Given the description of an element on the screen output the (x, y) to click on. 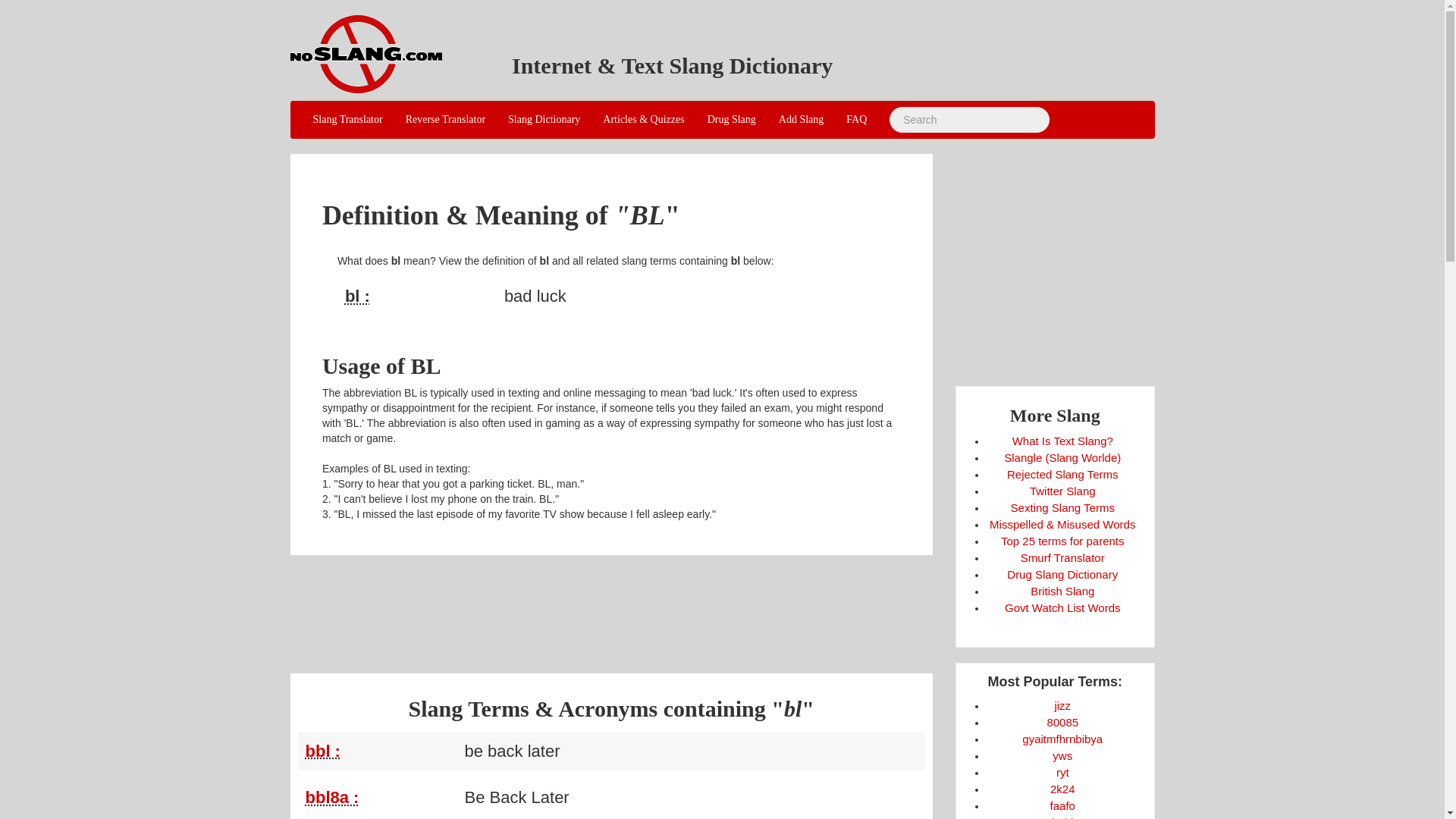
be back later (380, 750)
Drug Slang (731, 119)
FAQ (855, 119)
bbl : (321, 751)
Slang Dictionary (543, 119)
Reverse Translator (445, 119)
bbl8a : (331, 796)
Add Slang (801, 119)
Slang Translator (347, 119)
Be Back Later (380, 797)
bad luck (420, 295)
